Given the description of an element on the screen output the (x, y) to click on. 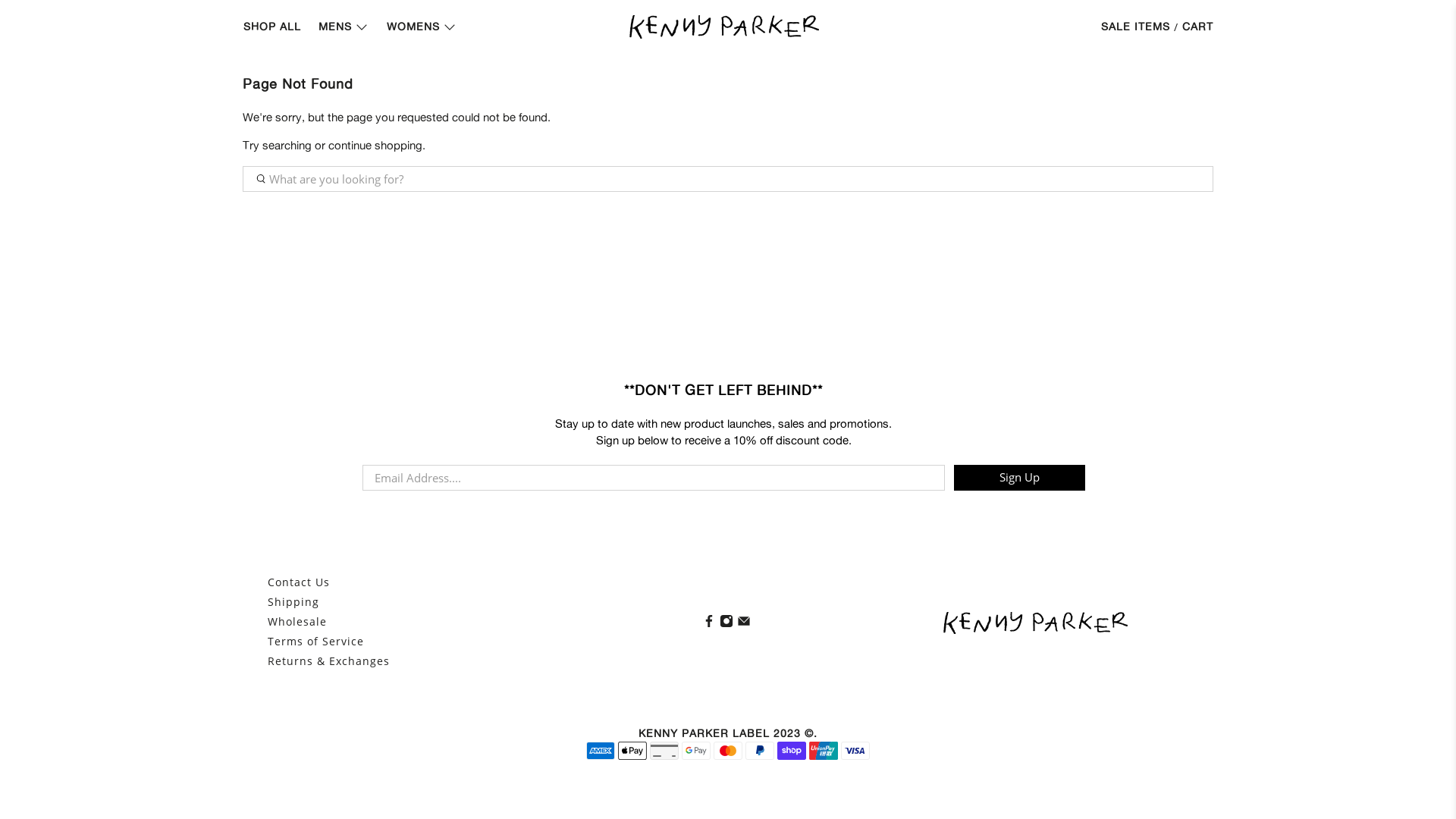
Sign Up Element type: text (1018, 477)
SHOP ALL Element type: text (272, 26)
MENS Element type: text (343, 26)
WOMENS Element type: text (422, 26)
SALE ITEMS Element type: text (1137, 26)
Kenny Parker Label on Instagram Element type: hover (726, 623)
continue shopping Element type: text (375, 144)
Kenny Parker Label on Facebook Element type: hover (708, 623)
Kenny Parker Label Element type: hover (724, 26)
Wholesale Element type: text (296, 621)
Terms of Service Element type: text (315, 640)
Returns & Exchanges Element type: text (328, 660)
Shipping Element type: text (293, 601)
Kenny Parker Label Element type: hover (1035, 622)
Email Kenny Parker Label Element type: hover (743, 623)
CART Element type: text (1197, 26)
KENNY PARKER LABEL Element type: text (703, 732)
Contact Us Element type: text (298, 581)
